Given the description of an element on the screen output the (x, y) to click on. 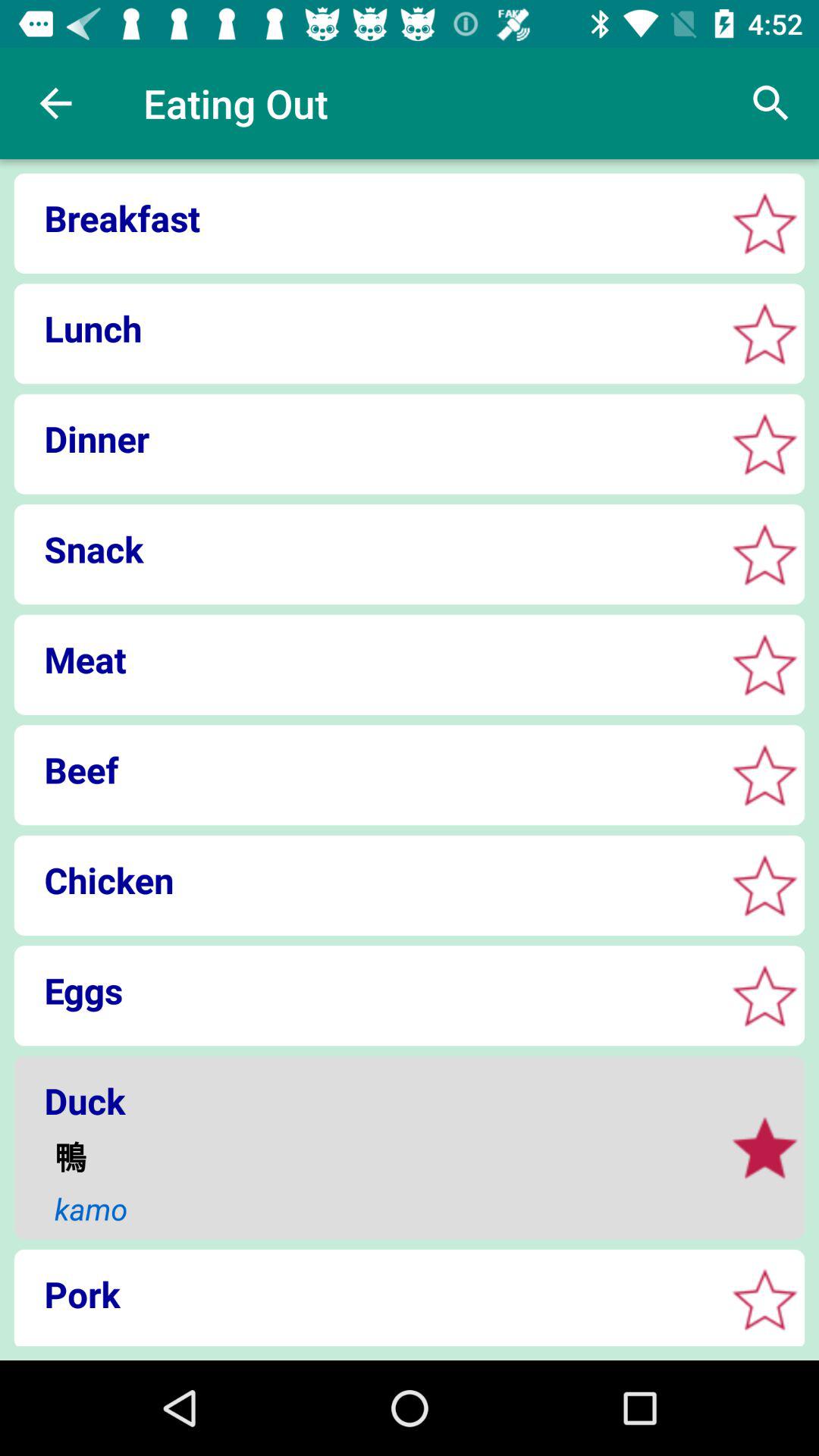
favourite click (764, 444)
